Given the description of an element on the screen output the (x, y) to click on. 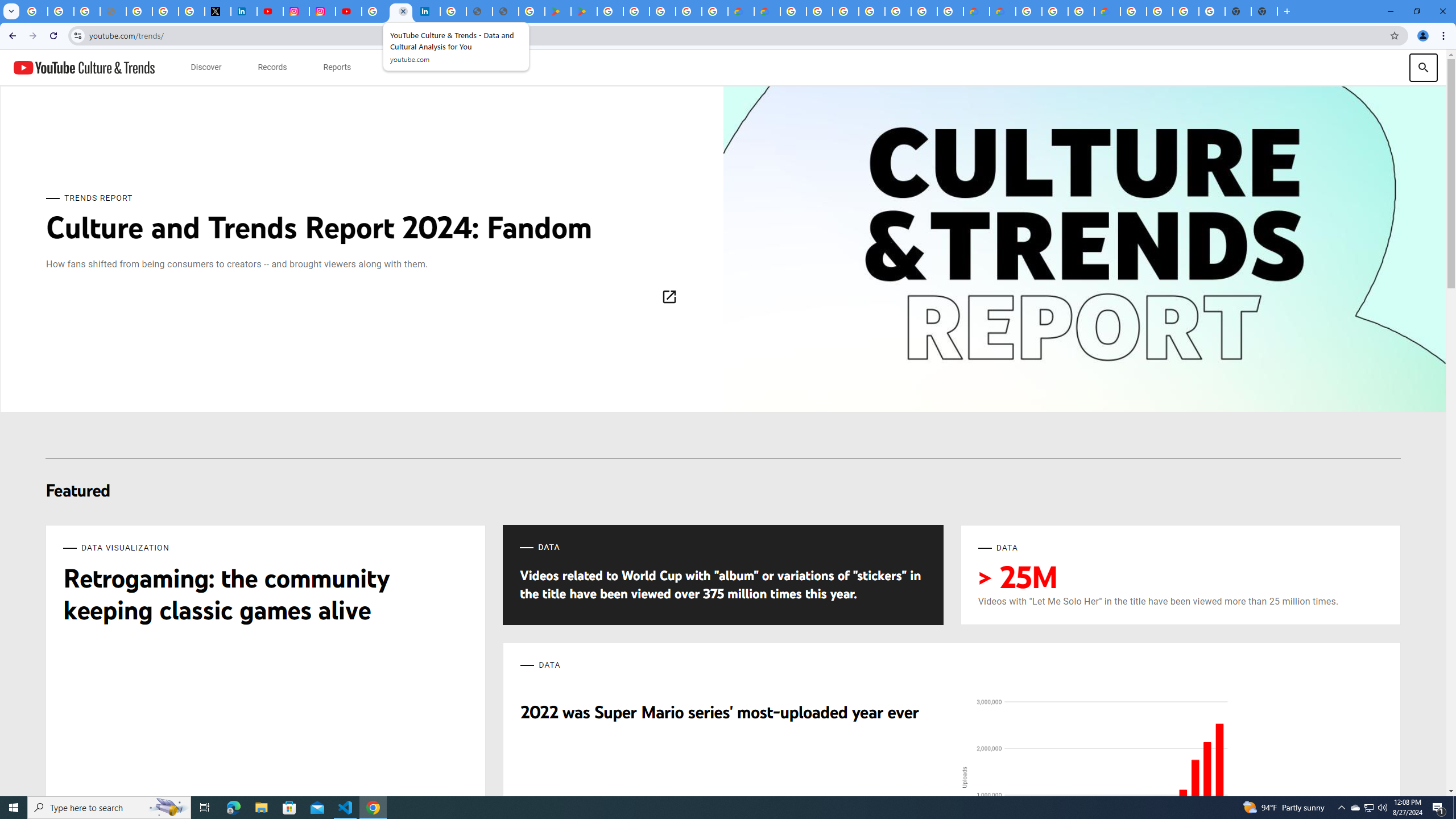
Android Apps on Google Play (558, 11)
Customer Care | Google Cloud (740, 11)
Google Workspace - Specific Terms (689, 11)
subnav-Reports menupopup (336, 67)
Privacy Help Center - Policies Help (138, 11)
Google Workspace - Specific Terms (715, 11)
